Given the description of an element on the screen output the (x, y) to click on. 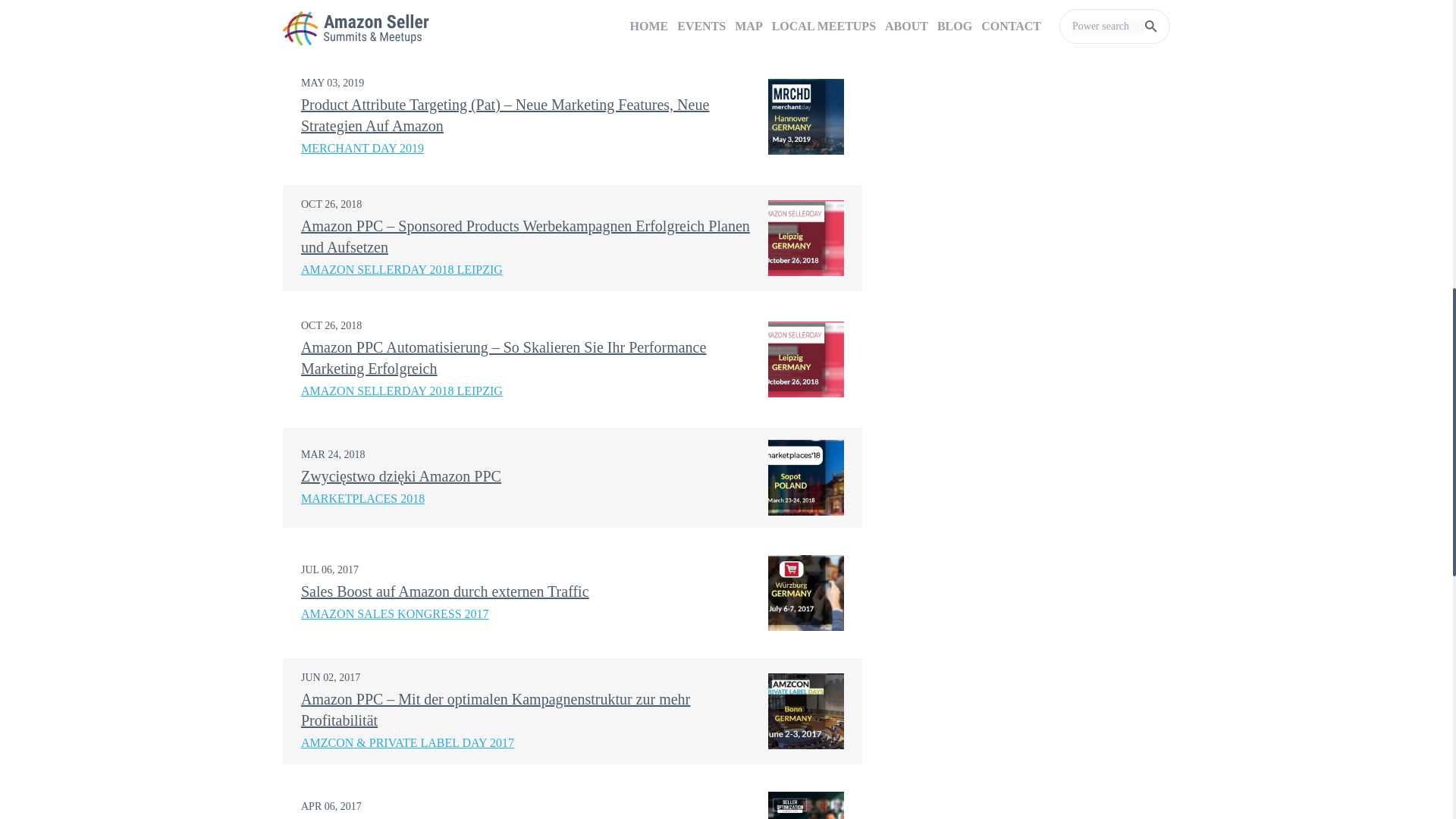
AMAZON SELLERDAY 2018 LEIPZIG (401, 273)
MARKETPLACES 2018 (363, 503)
E-WOLUCJA 2019 (349, 24)
AMAZON SALES KONGRESS 2017 (395, 618)
AMAZON SELLERDAY 2018 LEIPZIG (401, 395)
How to stand out from the competition on Amazon? (459, 2)
MERCHANT DAY 2019 (362, 152)
Sales Boost auf Amazon durch externen Traffic (445, 591)
